Given the description of an element on the screen output the (x, y) to click on. 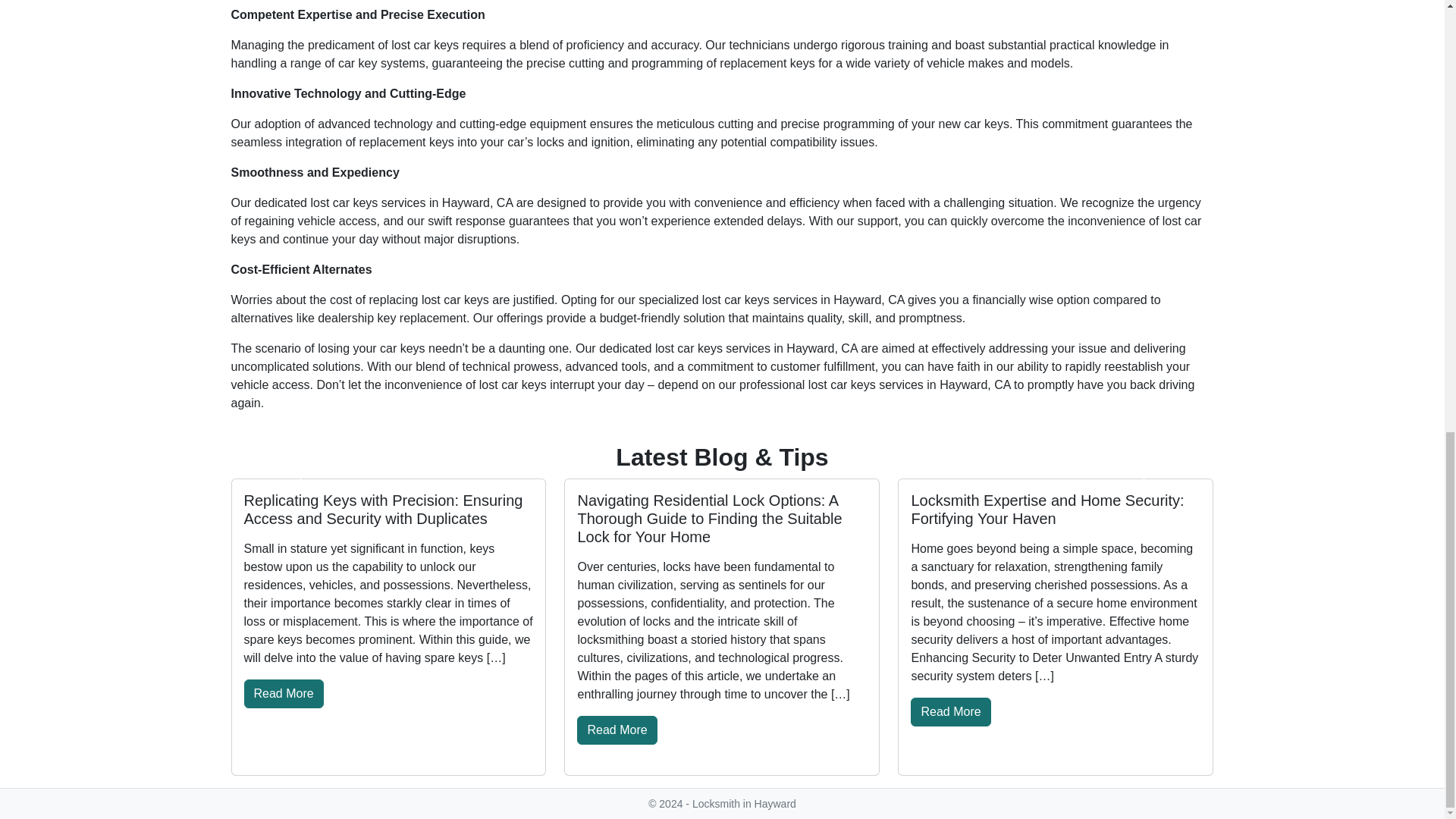
Read More (616, 729)
Read More (283, 693)
Read More (950, 711)
